Given the description of an element on the screen output the (x, y) to click on. 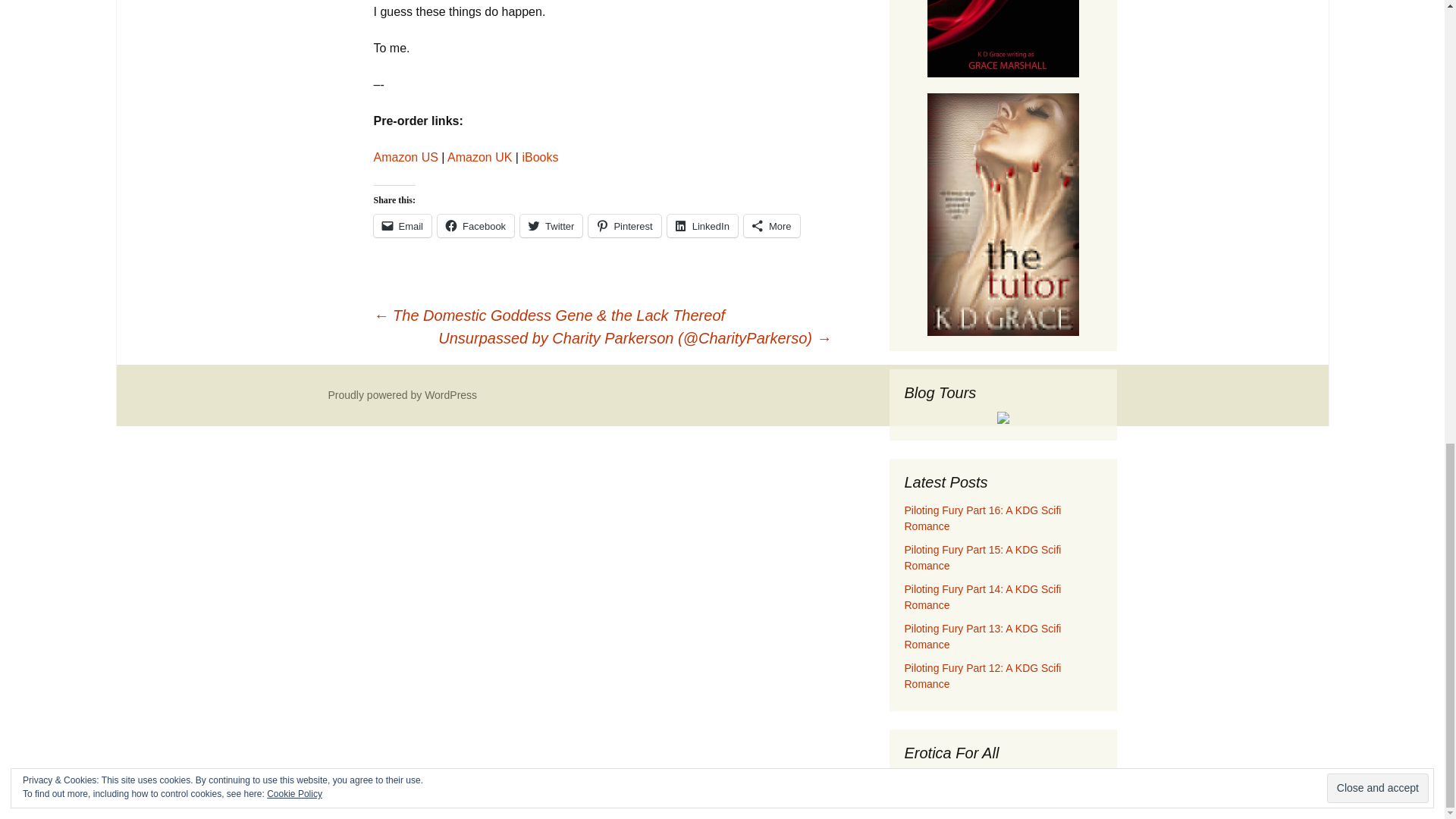
iBooks (539, 156)
Click to share on Pinterest (624, 225)
Twitter (550, 225)
Facebook (475, 225)
Amazon UK (479, 156)
LinkedIn (702, 225)
More (771, 225)
Click to share on LinkedIn (702, 225)
Pinterest (624, 225)
Email (401, 225)
